Given the description of an element on the screen output the (x, y) to click on. 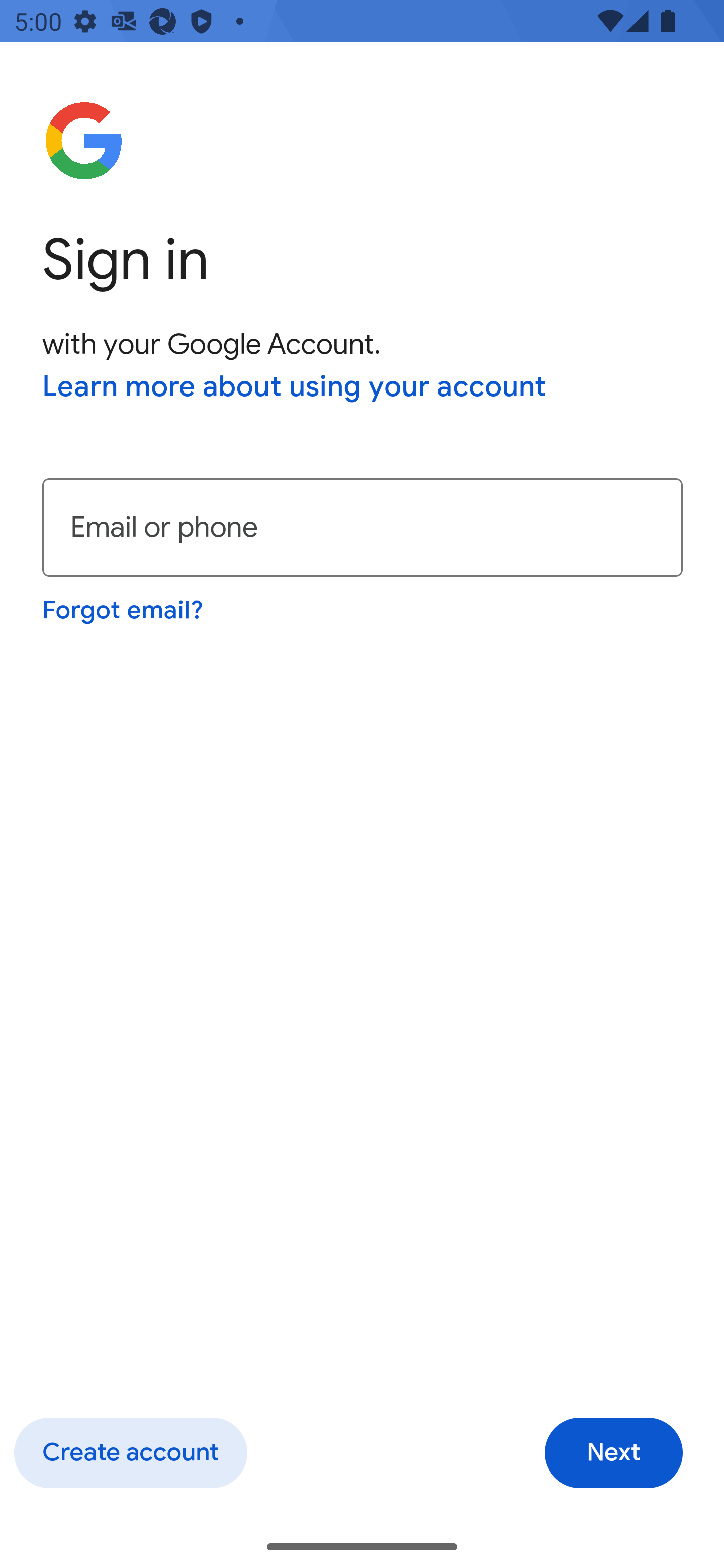
Learn more about using your account (294, 388)
Forgot email? (123, 609)
Next (613, 1453)
Create account (129, 1453)
